Given the description of an element on the screen output the (x, y) to click on. 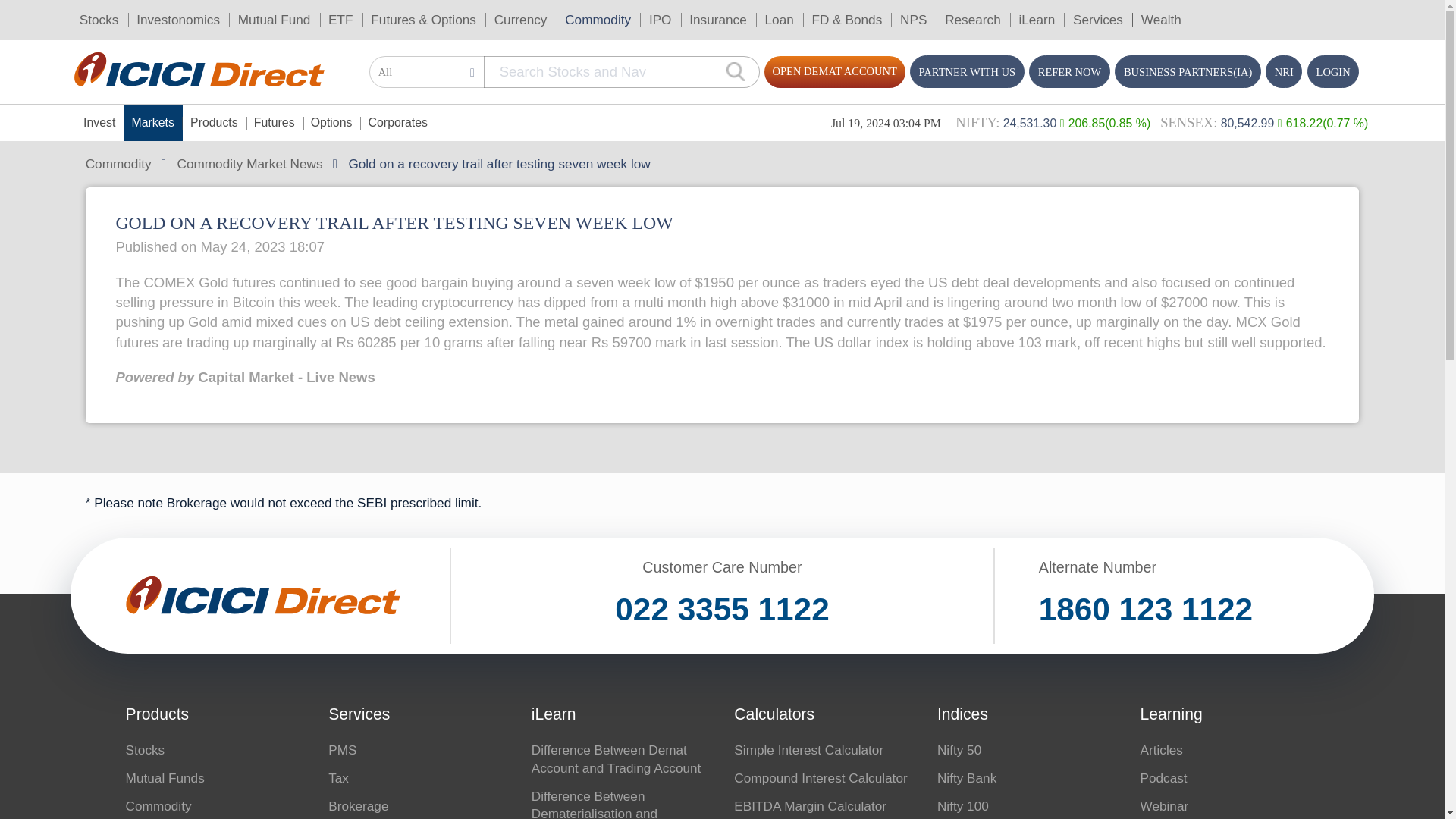
ETF (258, 15)
Stocks (74, 15)
Mutual Fund (207, 15)
Currency (393, 15)
Investonomics (134, 15)
All (322, 54)
